Given the description of an element on the screen output the (x, y) to click on. 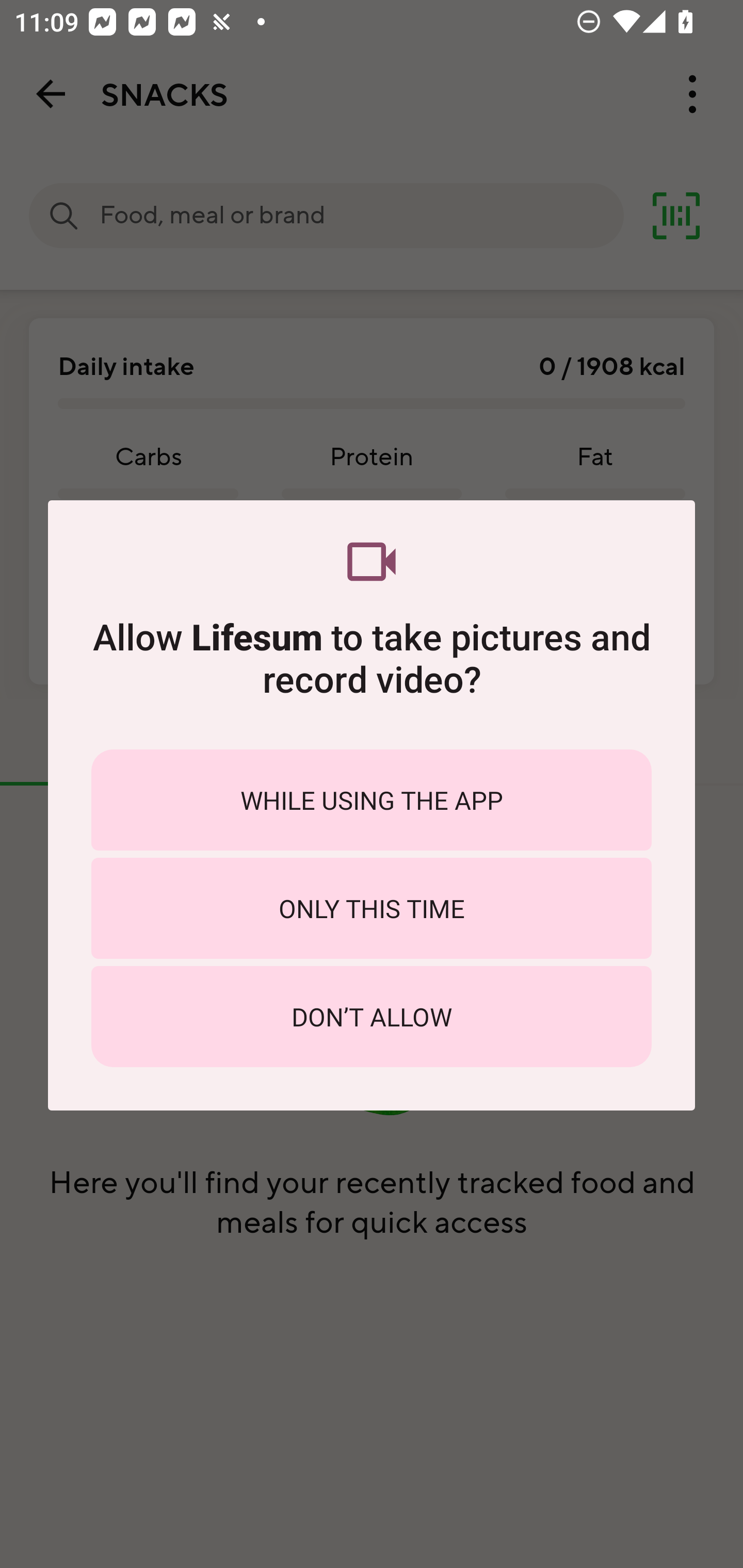
WHILE USING THE APP (371, 799)
ONLY THIS TIME (371, 908)
DON’T ALLOW (371, 1016)
